Given the description of an element on the screen output the (x, y) to click on. 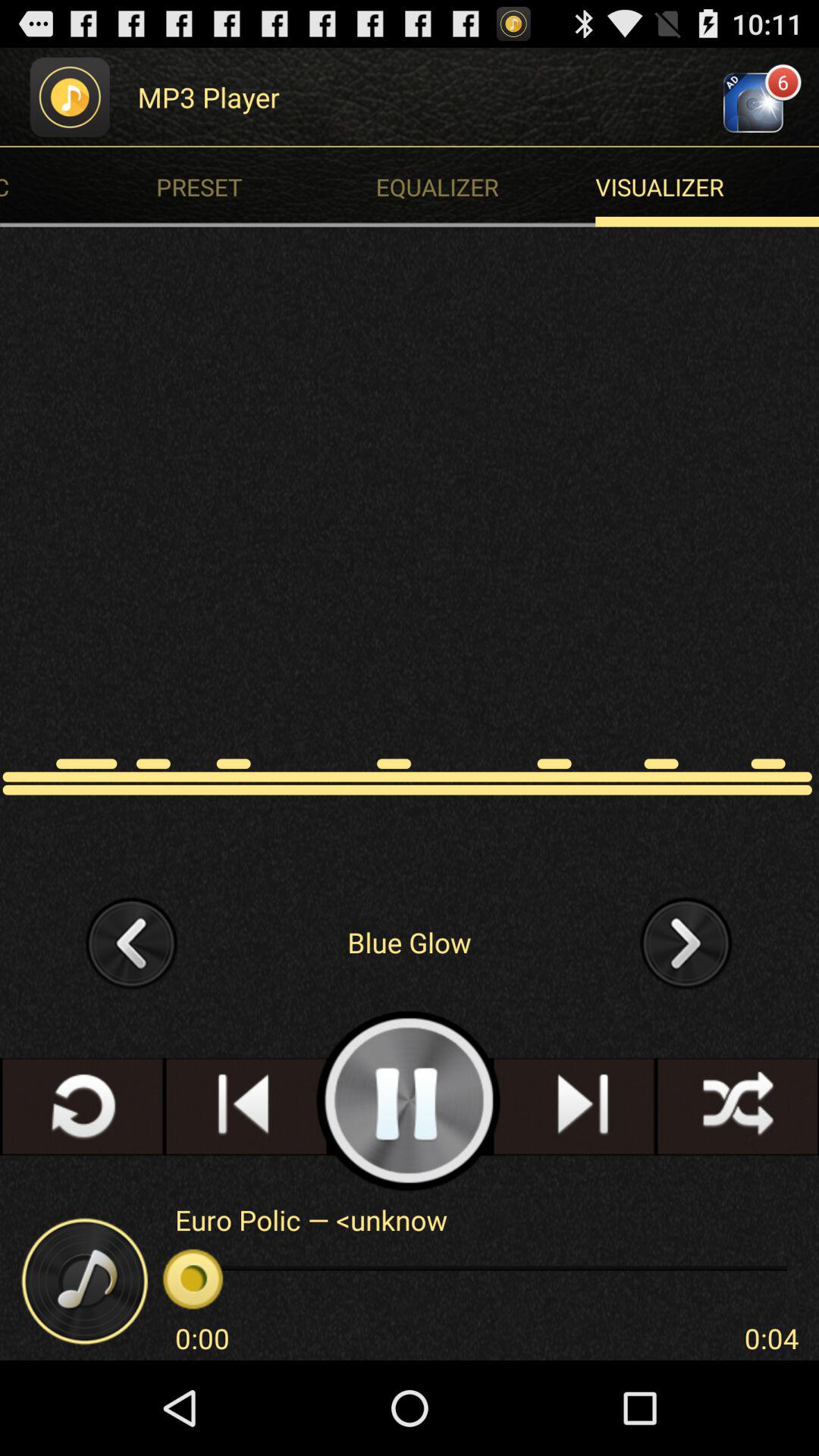
click equalizer radio button (489, 186)
